Given the description of an element on the screen output the (x, y) to click on. 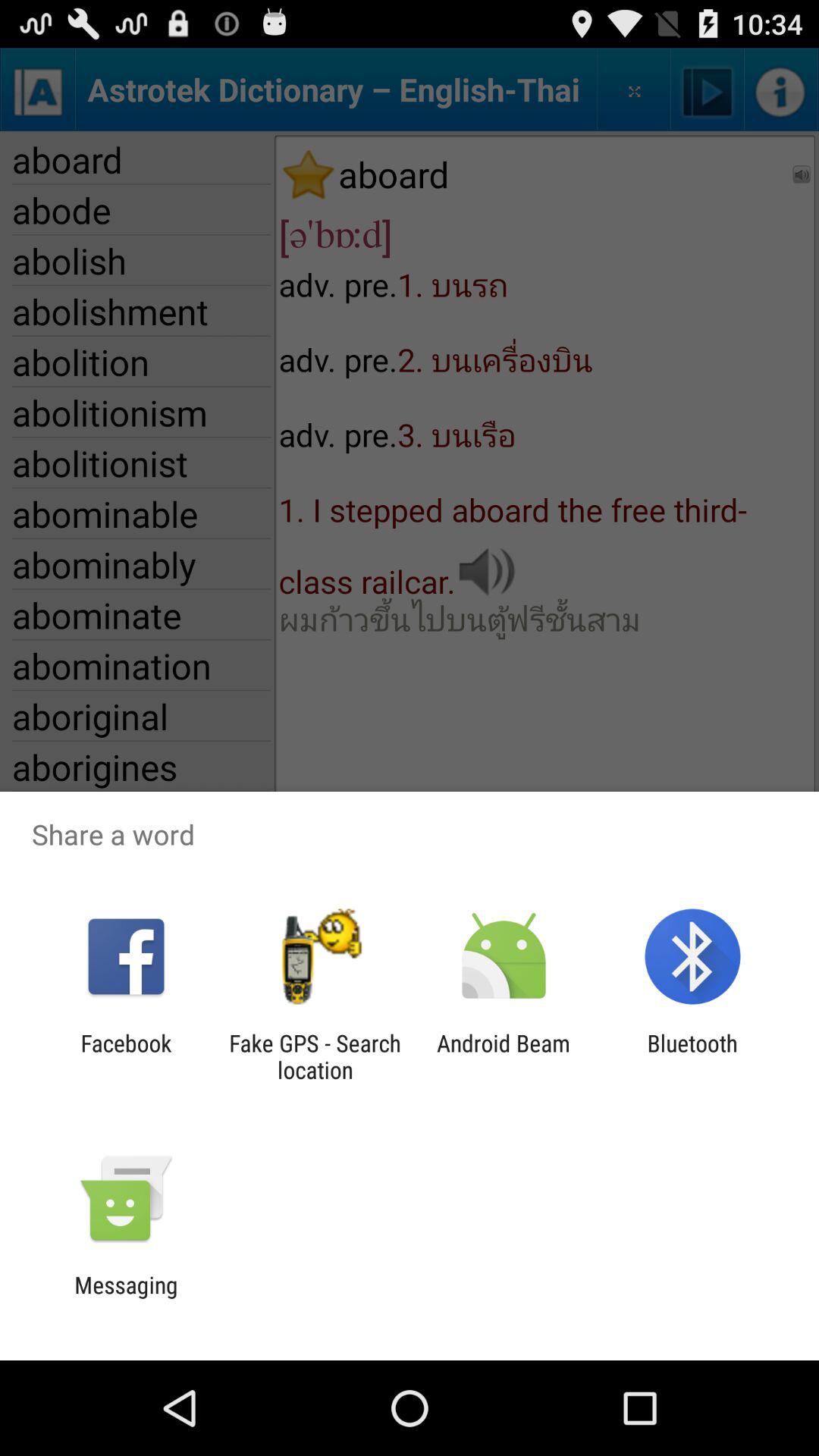
tap the app at the bottom right corner (692, 1056)
